Given the description of an element on the screen output the (x, y) to click on. 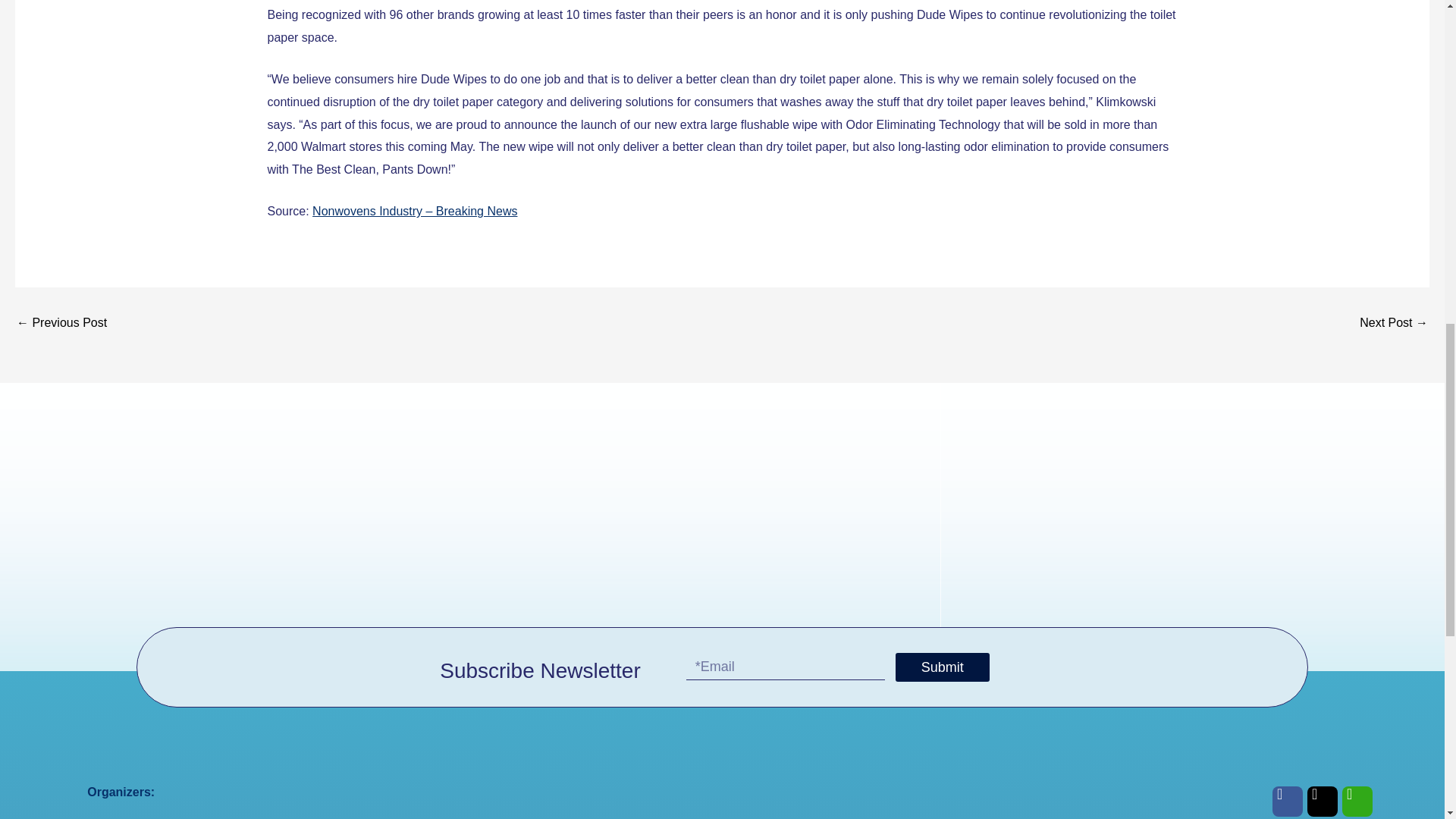
US' INDA invites abstracts for IDEA 2025 (1393, 322)
Evonik to Sell Superabsorbents Business to ICIG (61, 322)
